Given the description of an element on the screen output the (x, y) to click on. 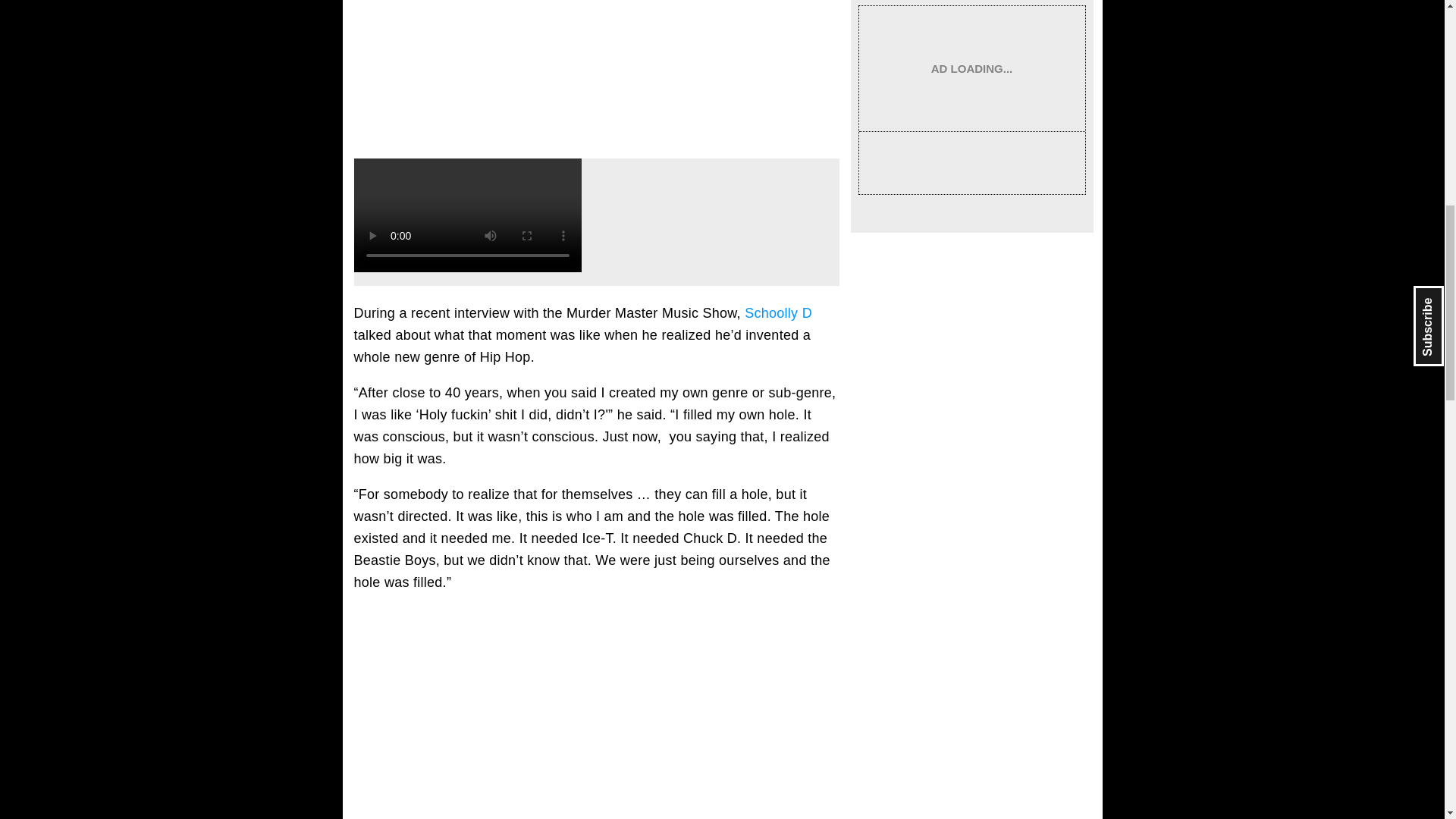
Schoolly D (778, 313)
Schoolly D- PSK, What Does It Mean? (595, 72)
